Given the description of an element on the screen output the (x, y) to click on. 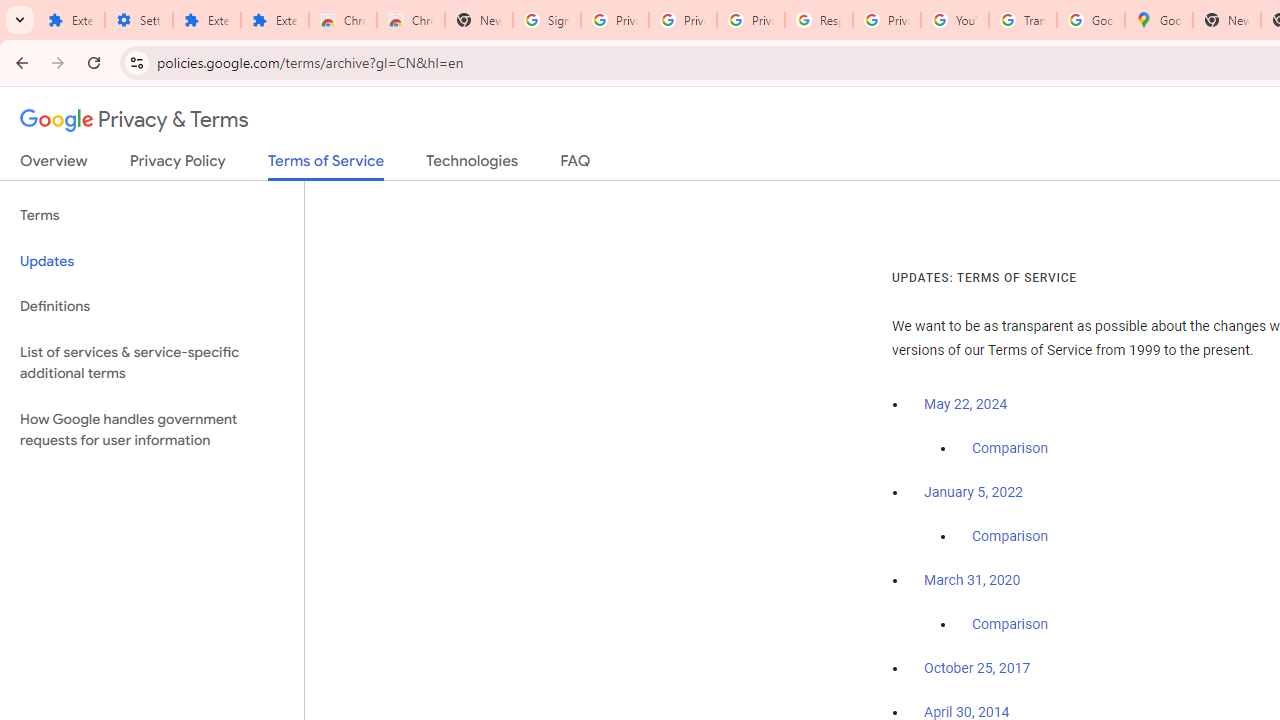
Chrome Web Store - Themes (411, 20)
May 22, 2024 (966, 404)
YouTube (954, 20)
